Given the description of an element on the screen output the (x, y) to click on. 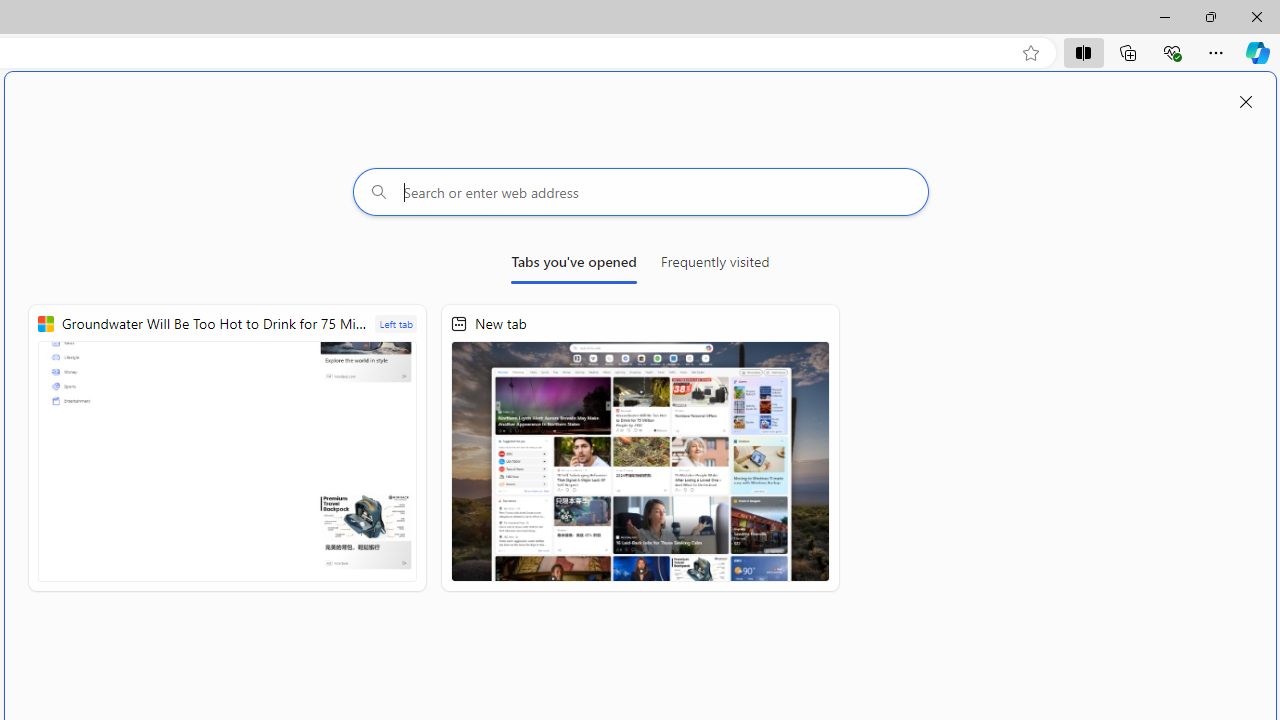
Frequently visited (715, 265)
Tabs you've opened (573, 265)
Close split screen (1245, 102)
